Given the description of an element on the screen output the (x, y) to click on. 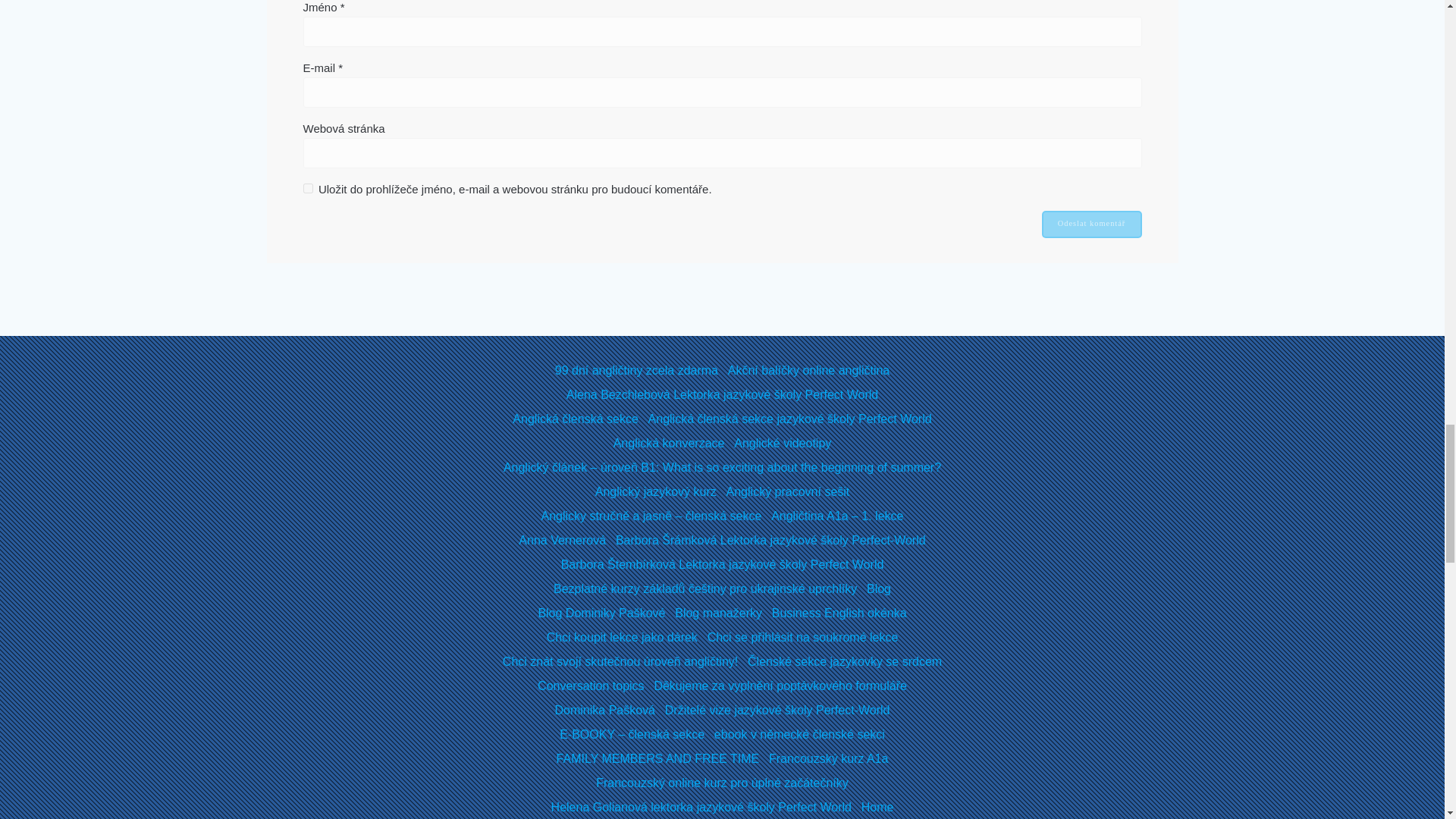
yes (307, 188)
Conversation topics (591, 686)
Blog (878, 589)
